Given the description of an element on the screen output the (x, y) to click on. 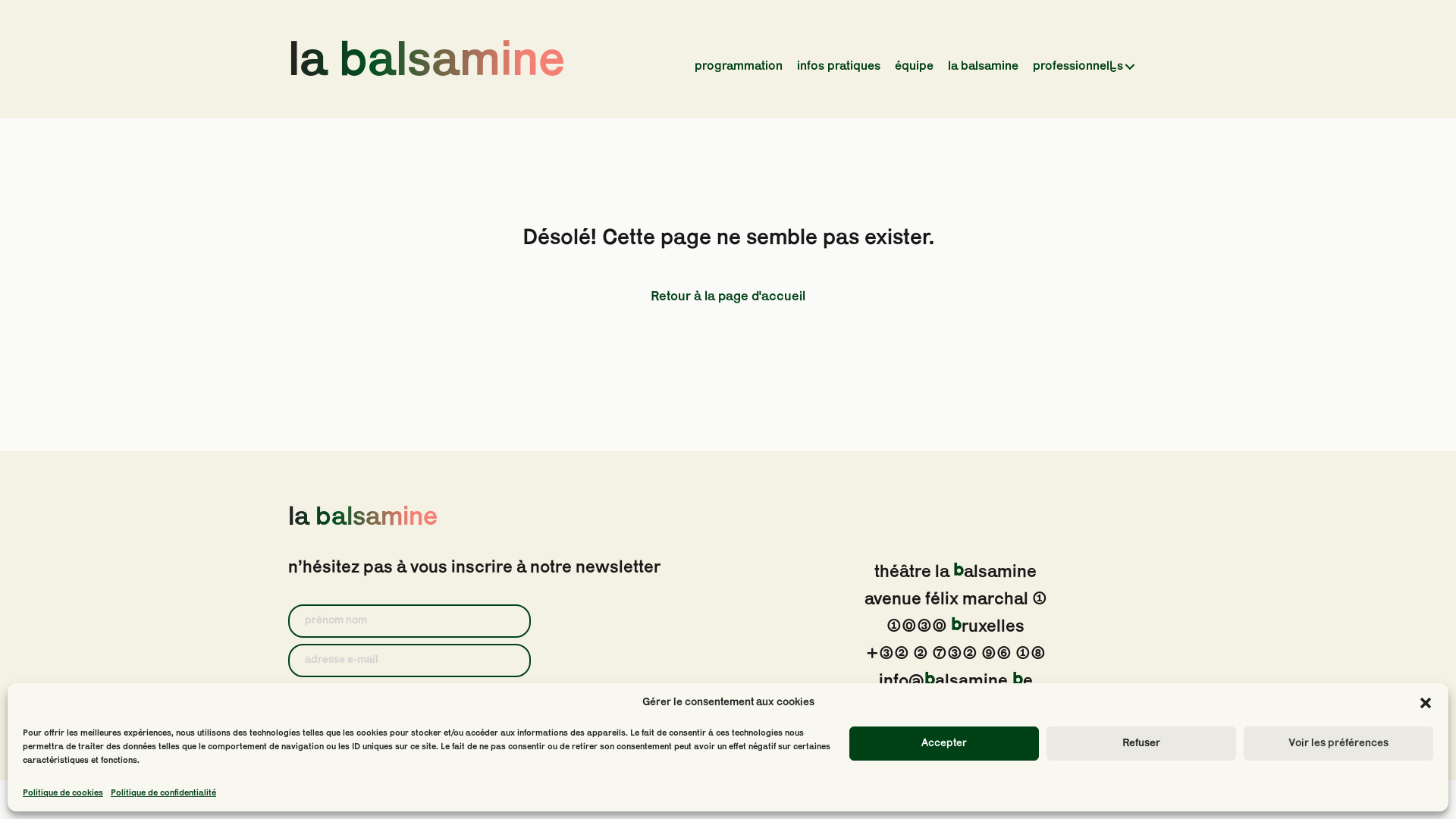
Politique de cookies Element type: text (62, 793)
la balsamine Element type: text (982, 66)
Accepter Element type: text (943, 743)
Cobea Element type: text (856, 797)
Refuser Element type: text (1141, 743)
Kidnap Your Designer Element type: text (782, 797)
programmation Element type: text (738, 66)
Je m'inscris Element type: text (348, 732)
infos pratiques Element type: text (837, 66)
la balsamine Element type: text (426, 62)
